Given the description of an element on the screen output the (x, y) to click on. 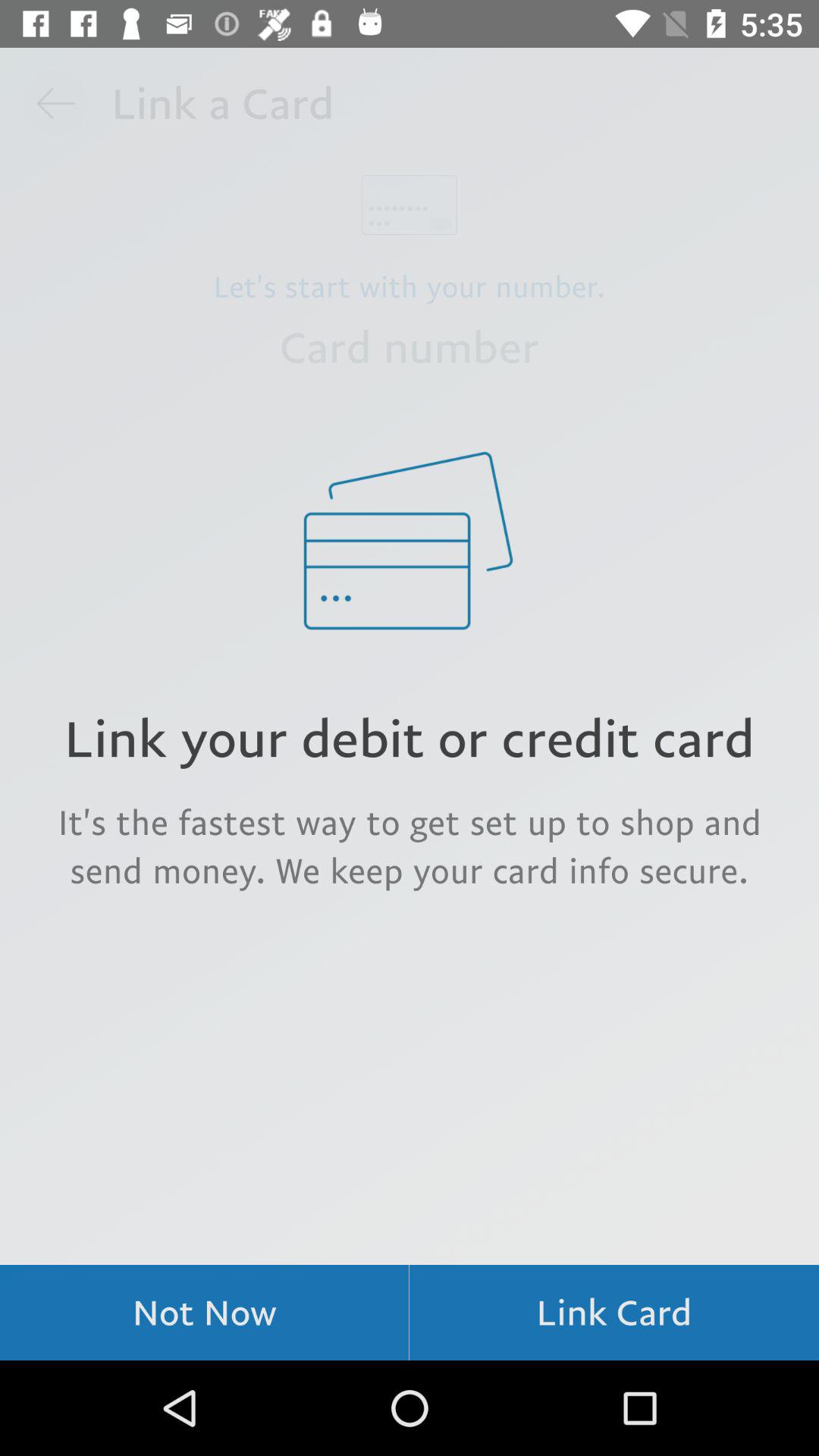
click item at the bottom left corner (204, 1312)
